Given the description of an element on the screen output the (x, y) to click on. 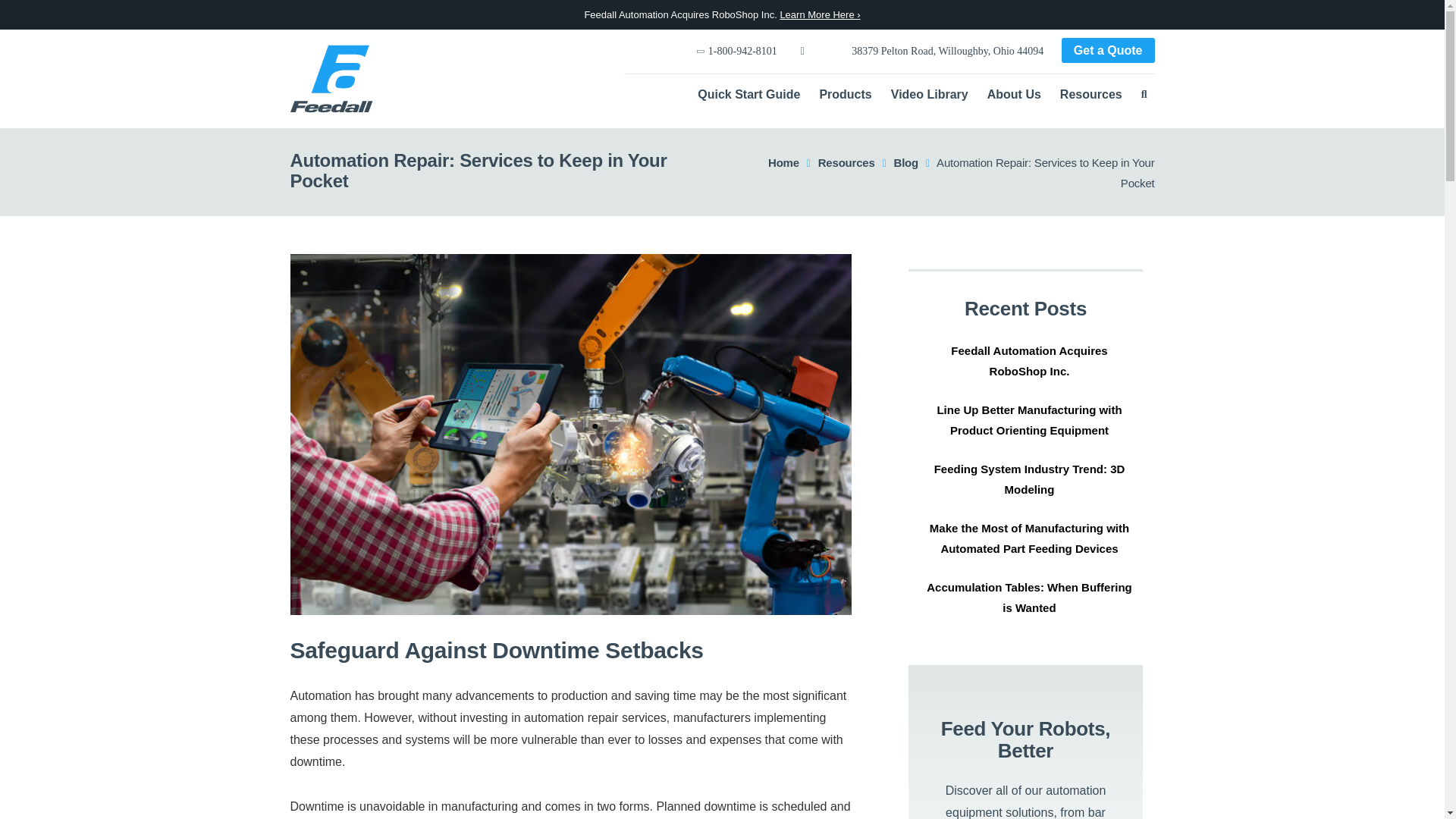
Feedall Automation Acquires RoboShop Inc. (1029, 360)
Resources (846, 162)
Quick Start Guide (748, 94)
Resources (1090, 94)
Feeding System Industry Trend: 3D Modeling (1029, 479)
Products (844, 94)
About Us (1014, 94)
Home (783, 162)
Get a Quote (1107, 50)
Video Library (929, 94)
Blog (905, 162)
